Given the description of an element on the screen output the (x, y) to click on. 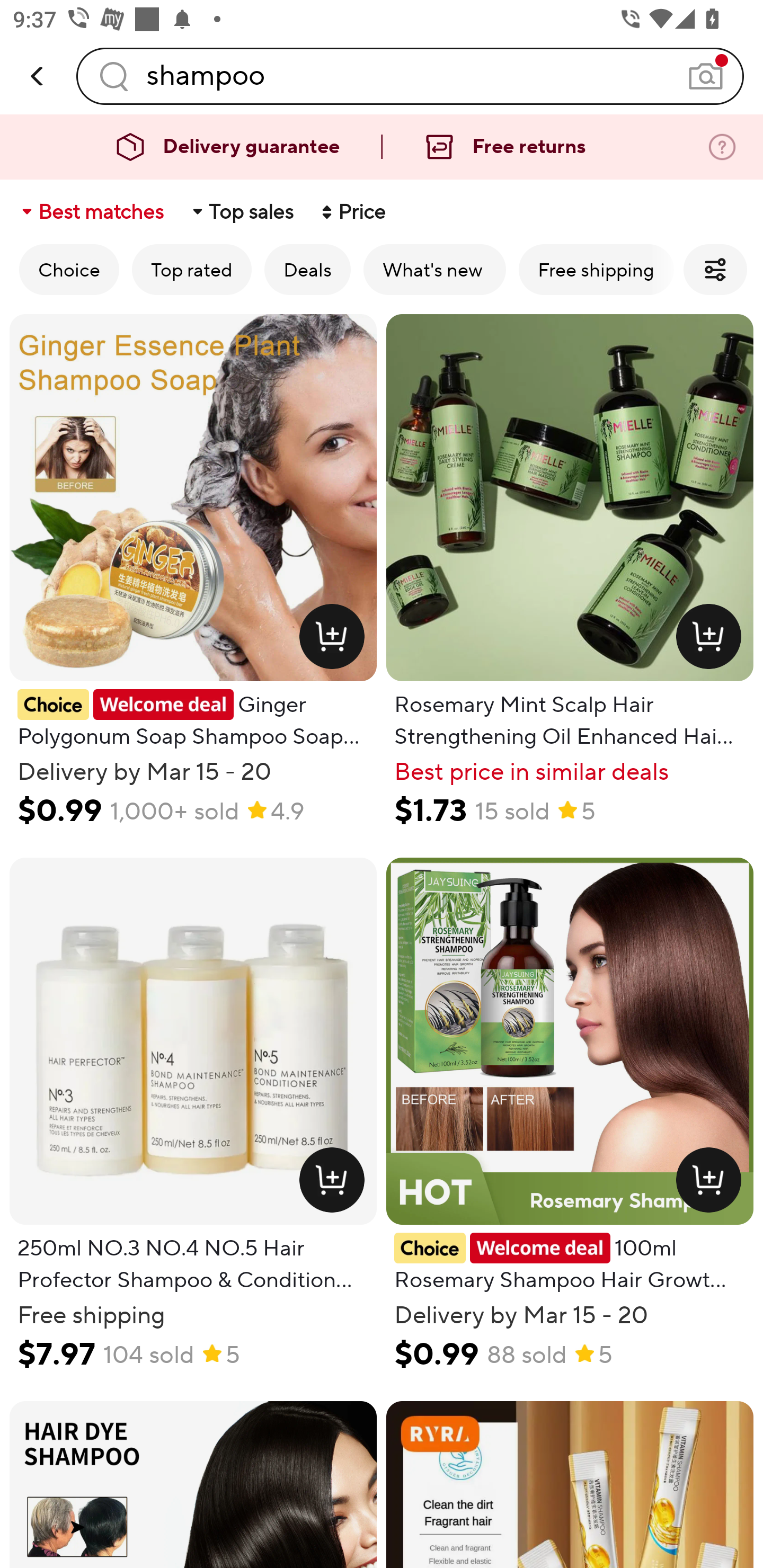
back (38, 75)
shampoo Search query (409, 76)
shampoo Search query (409, 76)
Best matches (91, 212)
Top sales (241, 212)
Price (352, 212)
Choice (69, 269)
Top rated (191, 269)
Deals (307, 269)
What's new  (434, 269)
Free shipping (595, 269)
